Given the description of an element on the screen output the (x, y) to click on. 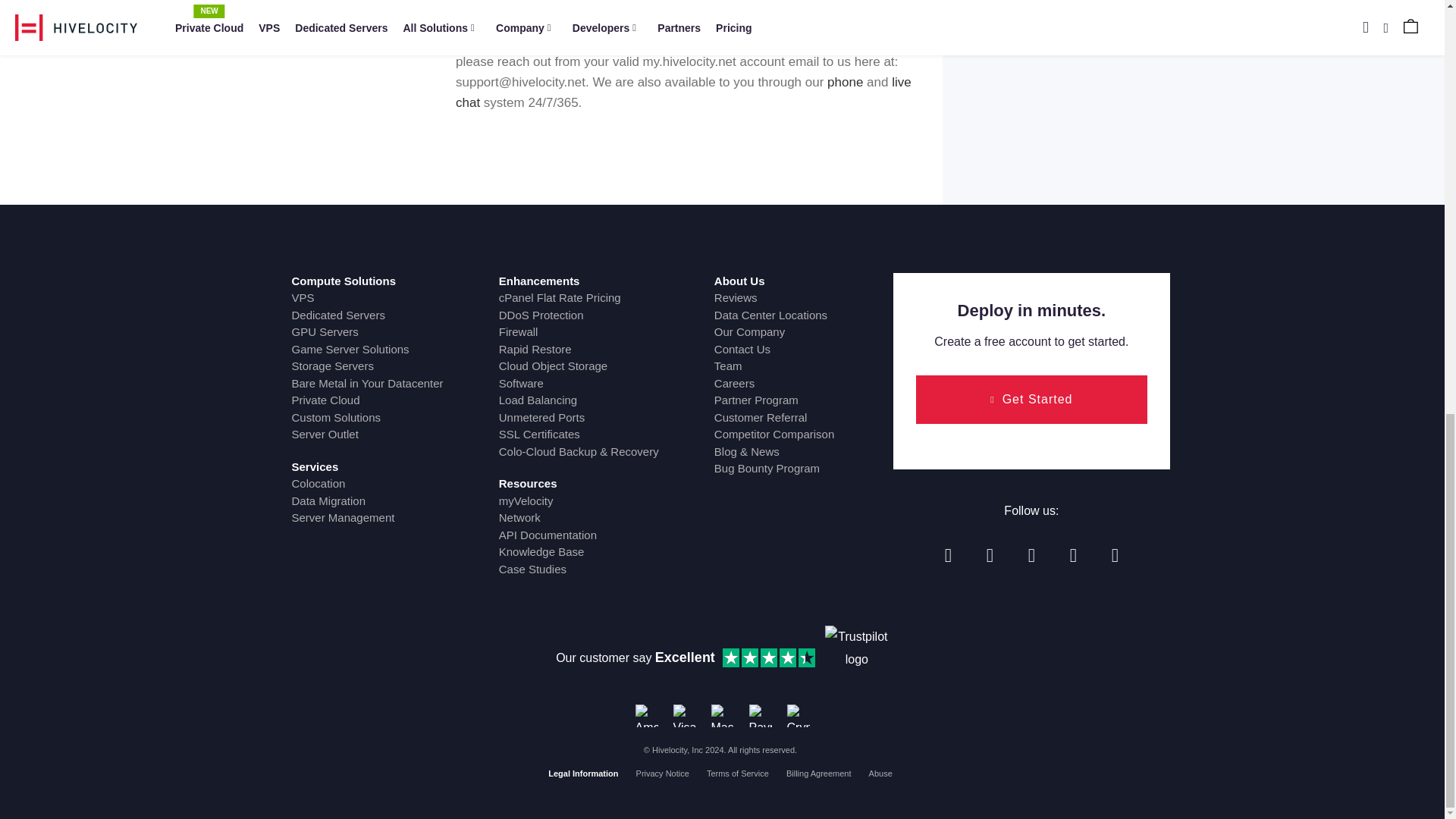
Mastercard (722, 715)
Hivelocity on Github (1072, 554)
Visa (683, 715)
Hivelocity on Twitter (989, 554)
Hivelocity on Facebook (947, 554)
American Express (646, 715)
Trustpilot logo (856, 657)
Hivelocity on Linkedin (1031, 554)
Hivelocity on Discord (1115, 554)
